Given the description of an element on the screen output the (x, y) to click on. 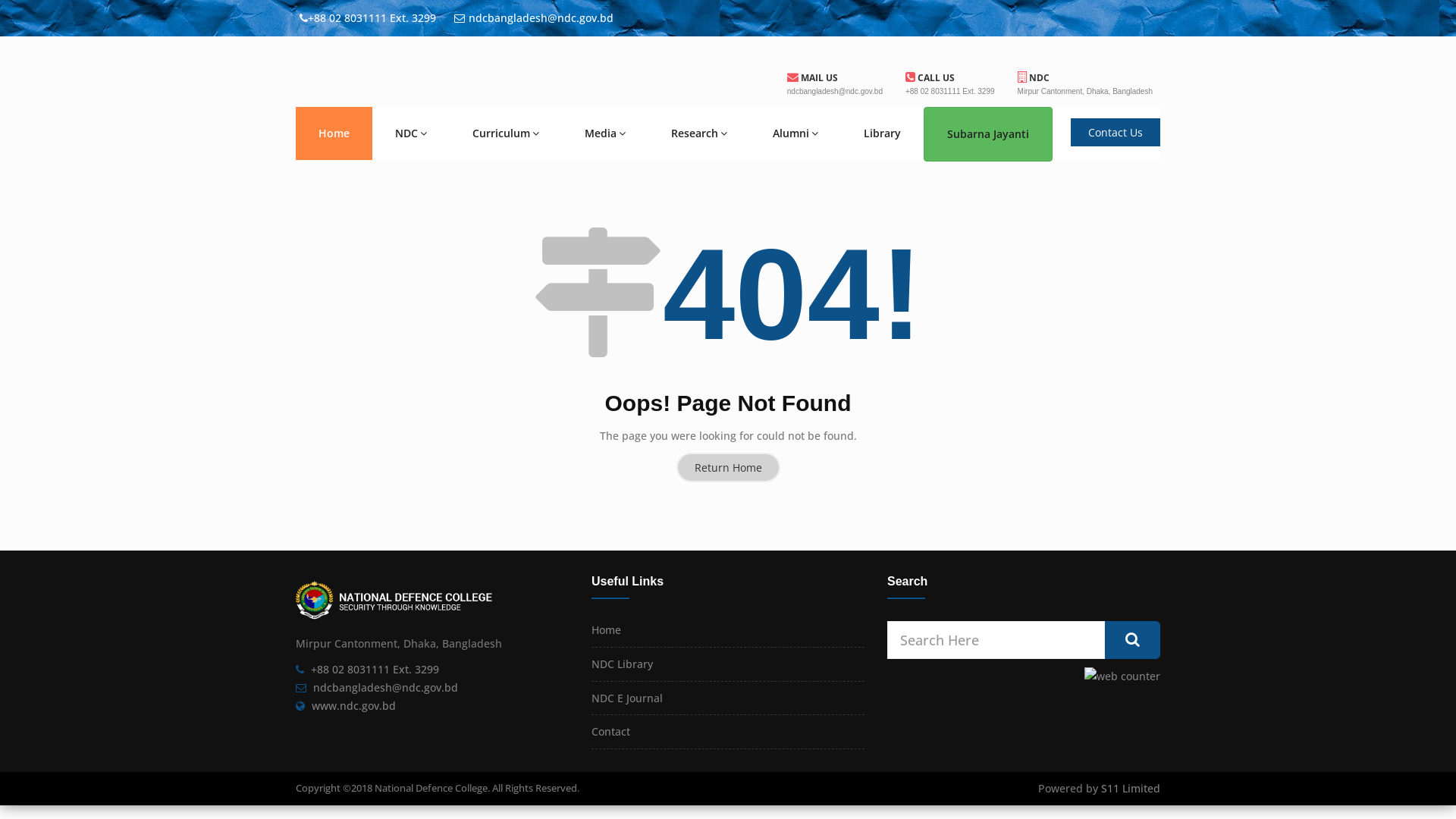
Contact Element type: text (610, 731)
NDC Library Element type: text (621, 663)
www.ndc.gov.bd Element type: text (353, 705)
Free Counter Element type: hover (1122, 676)
Home Element type: text (333, 133)
+88 02 8031111 Ext. 3299 Element type: text (374, 669)
NDC Element type: text (1033, 77)
ndcbangladesh@ndc.gov.bd Element type: text (385, 687)
MAIL US Element type: text (812, 77)
Media Element type: text (604, 133)
Home Element type: text (606, 629)
Research Element type: text (698, 133)
Subarna Jayanti Element type: text (987, 133)
Contact Us Element type: text (1115, 132)
Curriculum Element type: text (505, 133)
NDC Element type: text (410, 133)
Library Element type: text (881, 133)
Return Home Element type: text (728, 467)
Alumni Element type: text (794, 133)
S11 Limited Element type: text (1130, 788)
NDC E Journal Element type: text (626, 697)
CALL US Element type: text (929, 77)
